Given the description of an element on the screen output the (x, y) to click on. 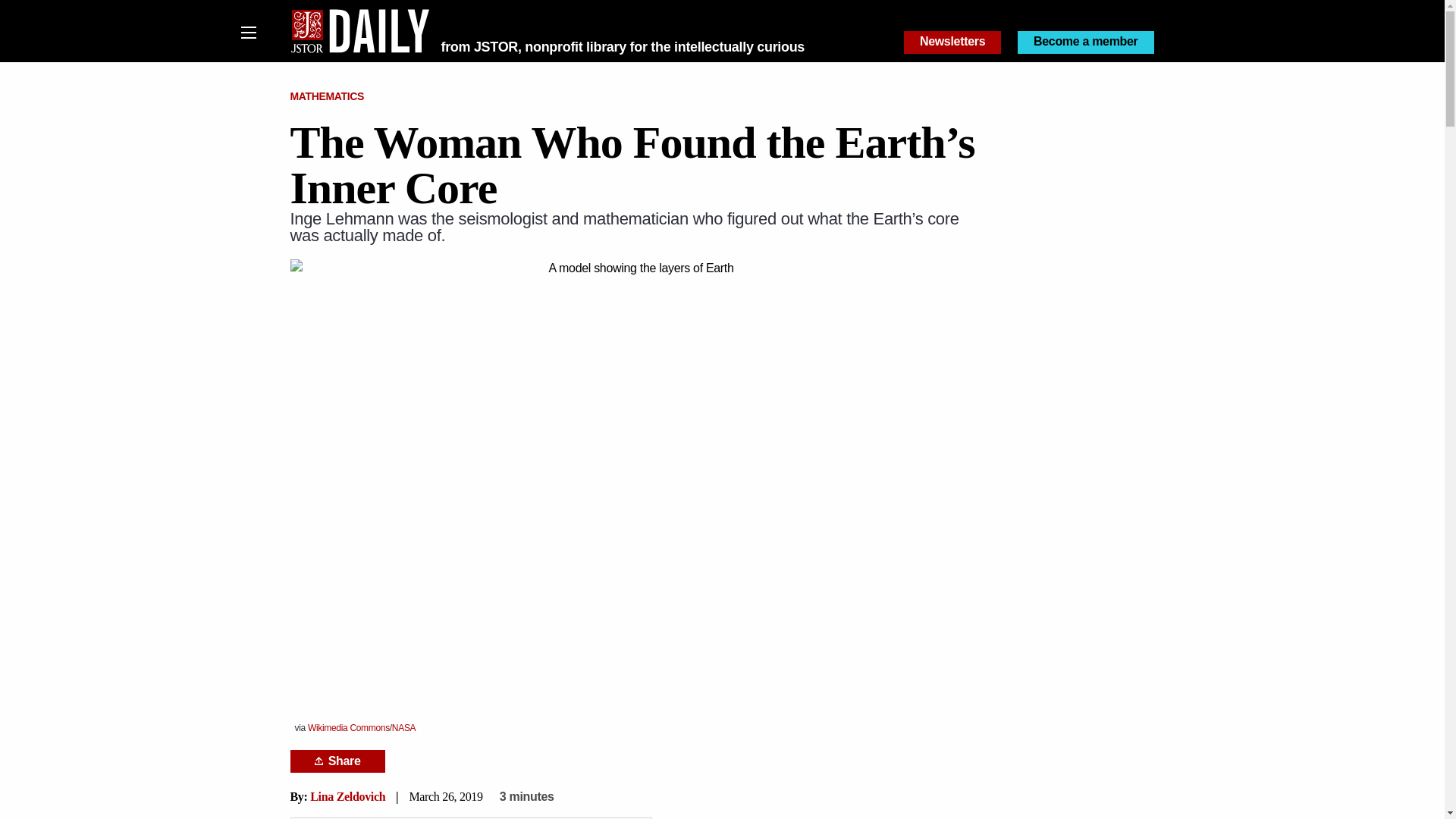
Newsletters (952, 42)
MATHEMATICS (326, 96)
NASA (402, 727)
Become a member (1085, 42)
Wikimedia Commons (348, 727)
from JSTOR, nonprofit library for the intellectually curious (623, 46)
